Given the description of an element on the screen output the (x, y) to click on. 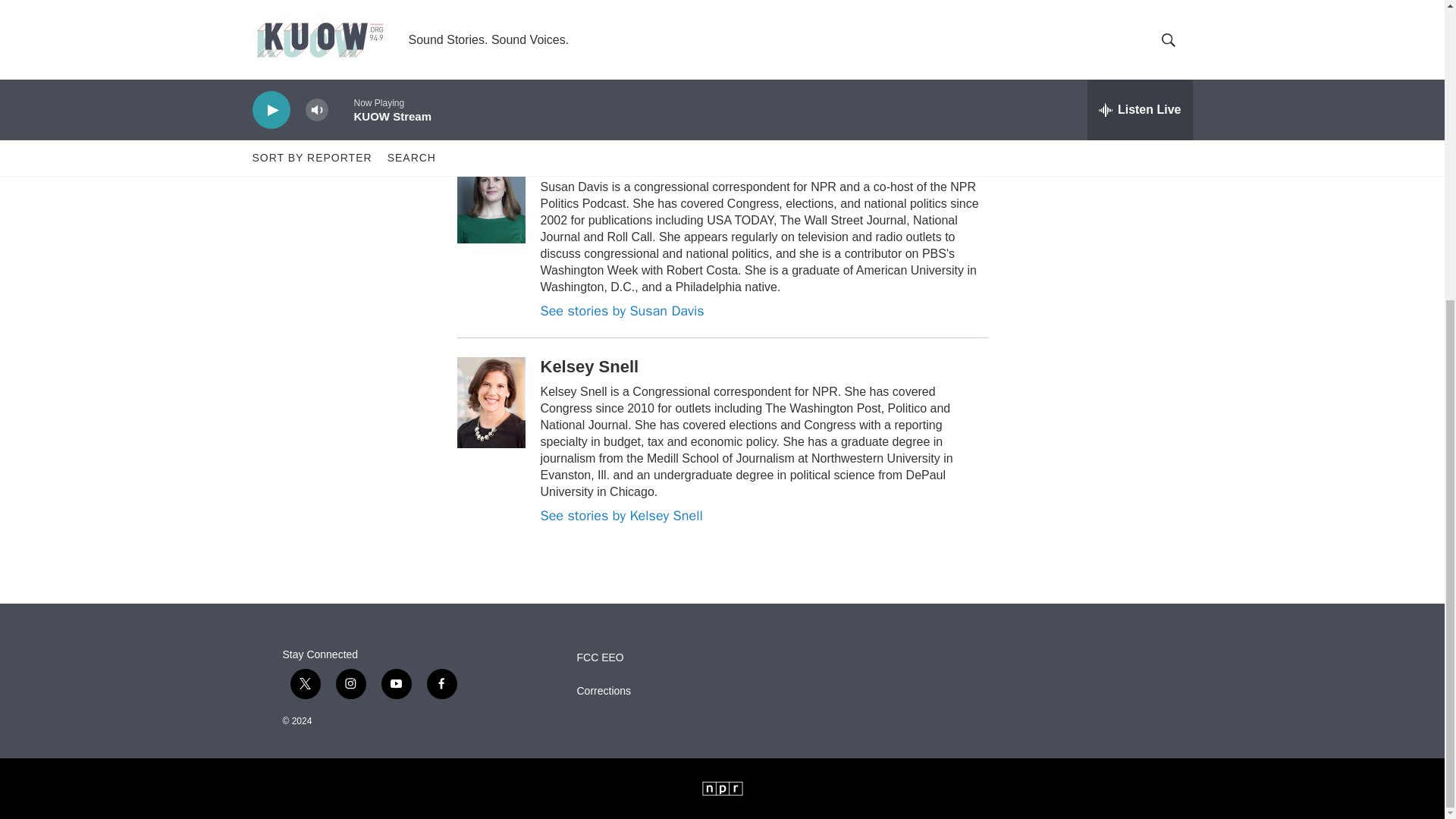
Twitter (1109, 26)
facebook (441, 684)
FCC EEO (668, 657)
See stories by Susan Davis (621, 310)
youtube (395, 684)
Kelsey Snell (408, 11)
Susan Davis (325, 11)
LinkedIn (494, 110)
instagram (349, 684)
Email (1162, 26)
See stories by Kelsey Snell (620, 515)
Susan Davis (589, 161)
LinkedIn (1135, 26)
Kelsey Snell (589, 366)
twitter (304, 684)
